Given the description of an element on the screen output the (x, y) to click on. 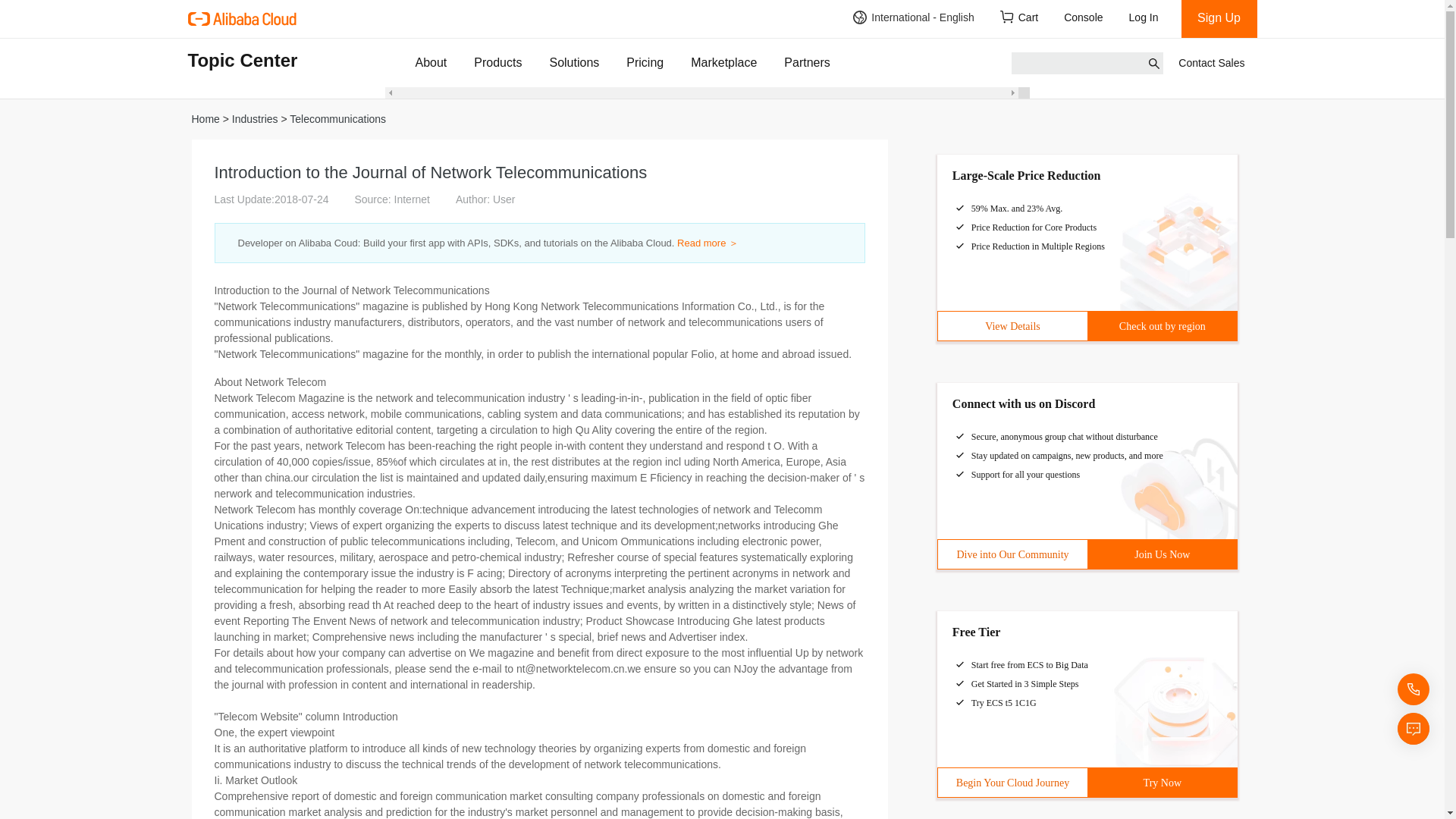
Solutions (573, 62)
Products (497, 62)
Log In (1148, 18)
Connect with us on Discord (1023, 403)
Contact Sales (1210, 63)
Home (204, 119)
View Details (1012, 326)
Console (1083, 18)
Industries (254, 119)
Large-Scale Price Reduction (1026, 174)
Sign Up (1218, 18)
Partners (806, 62)
Telecommunications (337, 119)
Join Us Now (1161, 553)
Begin Your Cloud Journey (1012, 782)
